Given the description of an element on the screen output the (x, y) to click on. 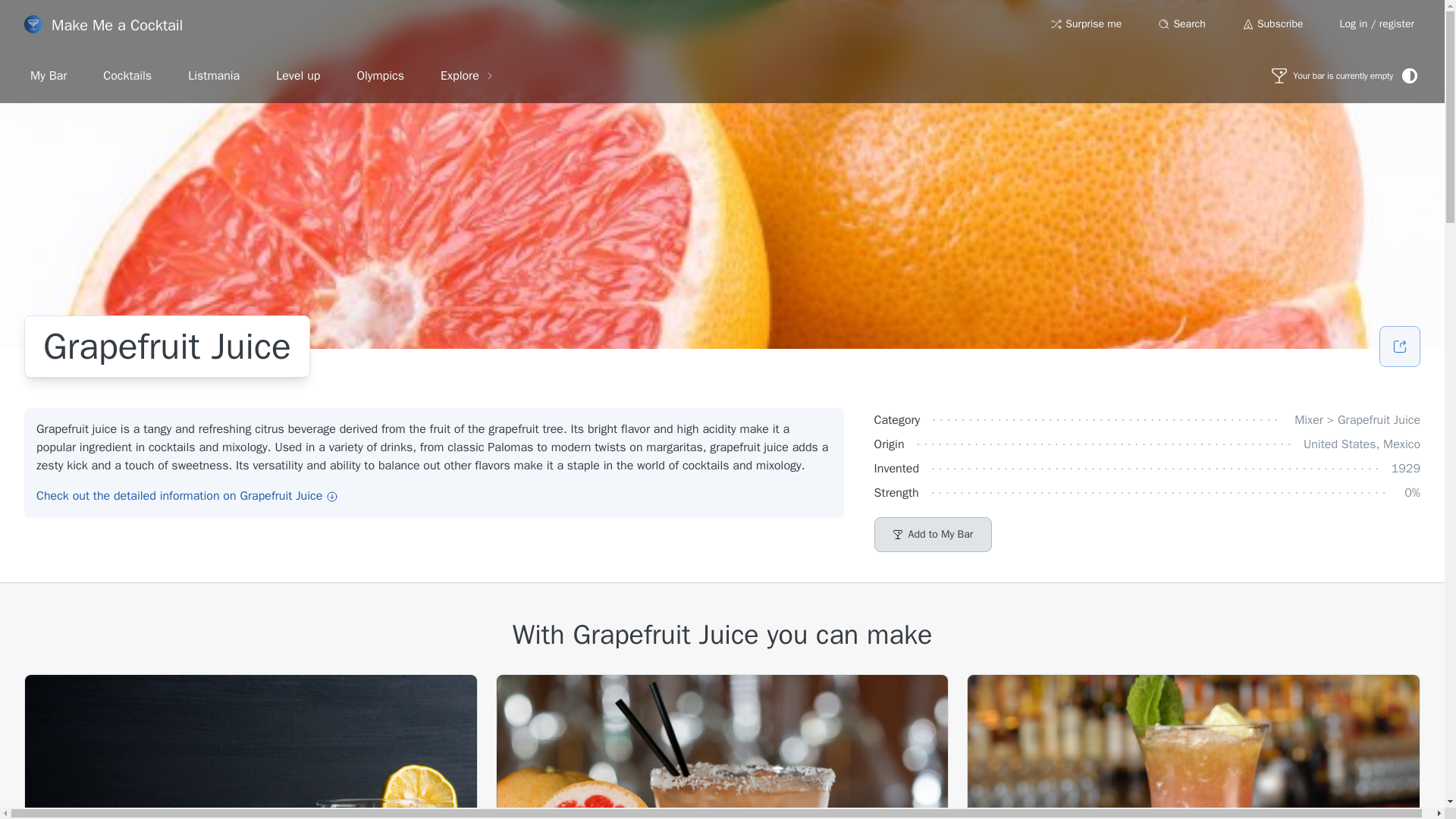
Cocktails (127, 75)
Listmania (213, 75)
Make Me a Cocktail (103, 24)
My Bar (47, 75)
Subscribe (1273, 24)
Go to My Bar (1332, 75)
Level up (297, 75)
Surprise me (1086, 24)
Olympics (379, 75)
Add to My Bar (933, 534)
Search (1182, 24)
Your bar is currently empty (1332, 75)
Explore (467, 75)
